Given the description of an element on the screen output the (x, y) to click on. 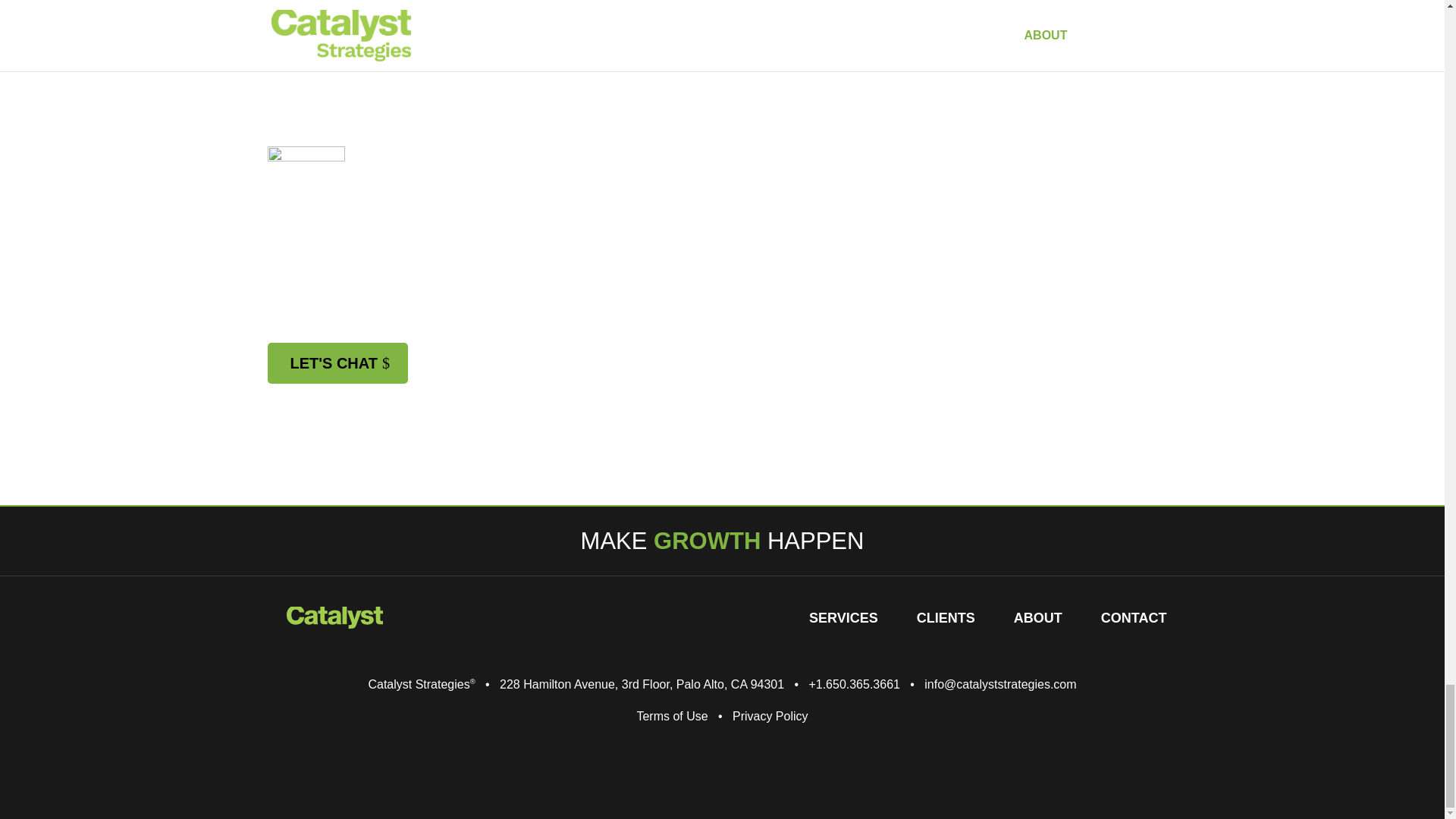
ABOUT (1037, 620)
CONTACT (1133, 620)
LET'S CHAT (336, 363)
Terms of Use (671, 716)
Privacy Policy (770, 716)
CLIENTS (946, 620)
SERVICES (843, 620)
catalyst-logo (334, 617)
